Given the description of an element on the screen output the (x, y) to click on. 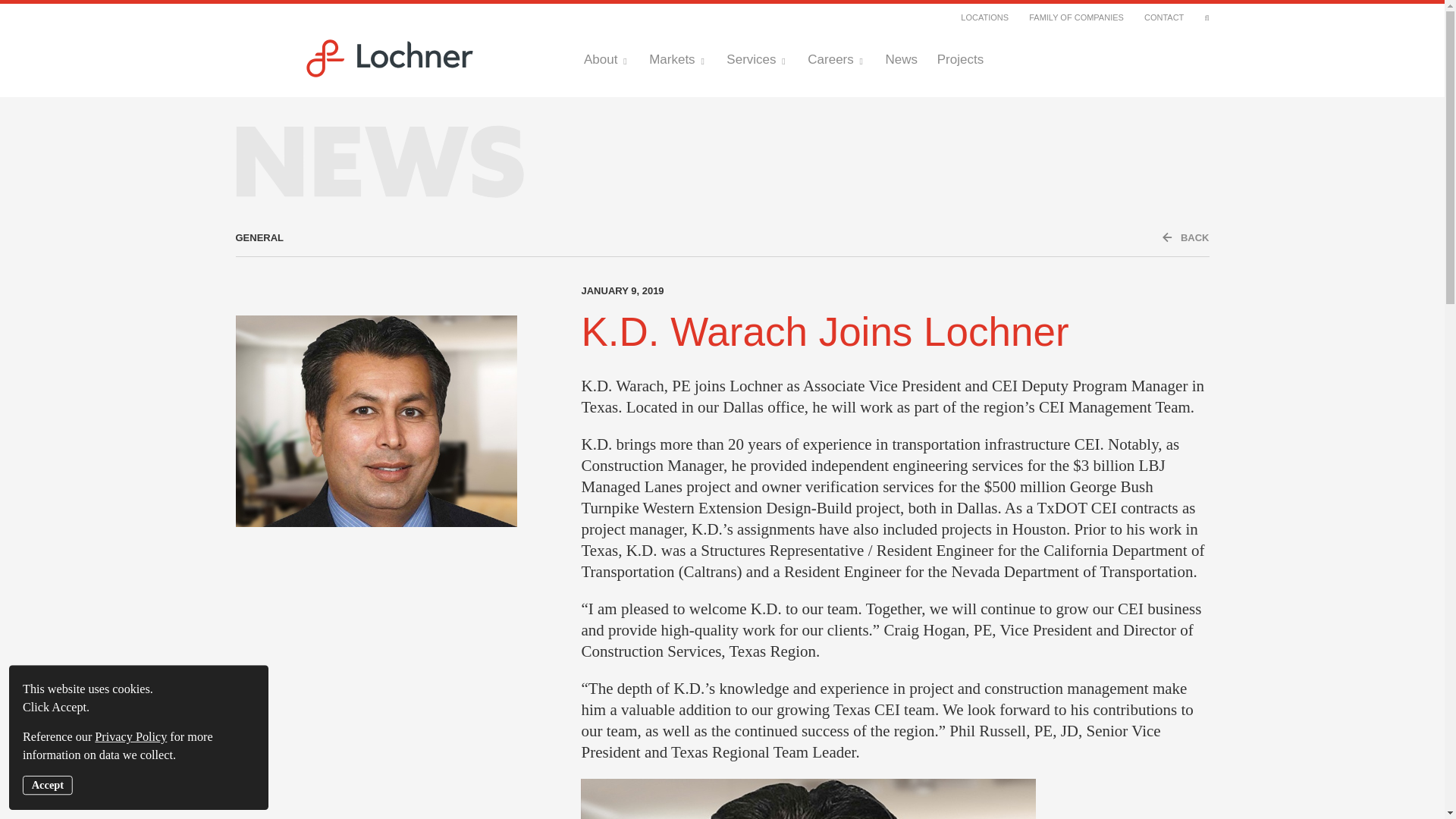
Services (756, 59)
Projects (960, 59)
LOCATIONS (984, 17)
K.D. Warach Joins Lochner (824, 331)
FAMILY OF COMPANIES (1076, 17)
CONTACT (1163, 17)
Markets (677, 59)
News (901, 59)
About (605, 59)
Careers (836, 59)
